Given the description of an element on the screen output the (x, y) to click on. 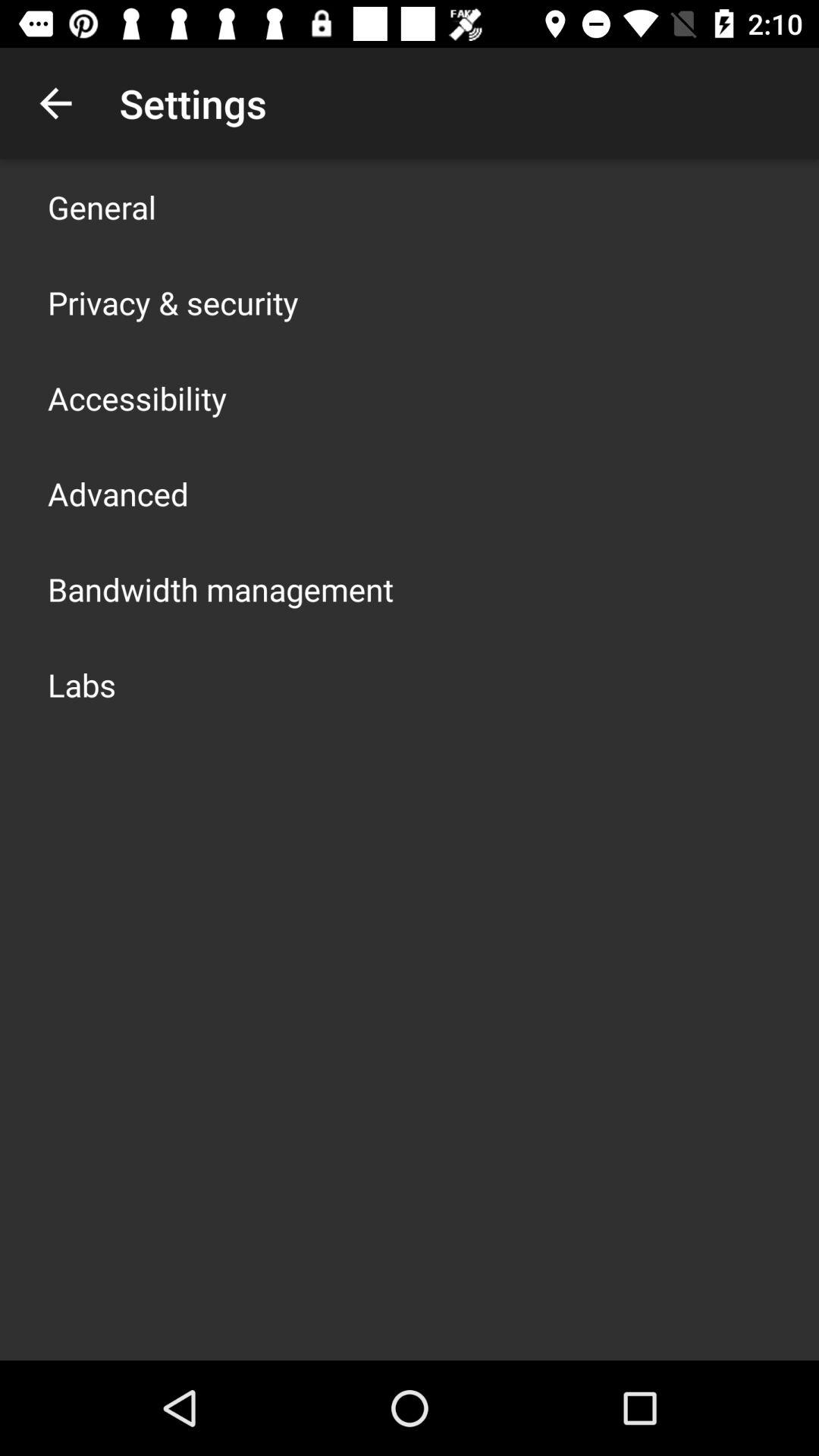
turn off the accessibility (136, 397)
